Given the description of an element on the screen output the (x, y) to click on. 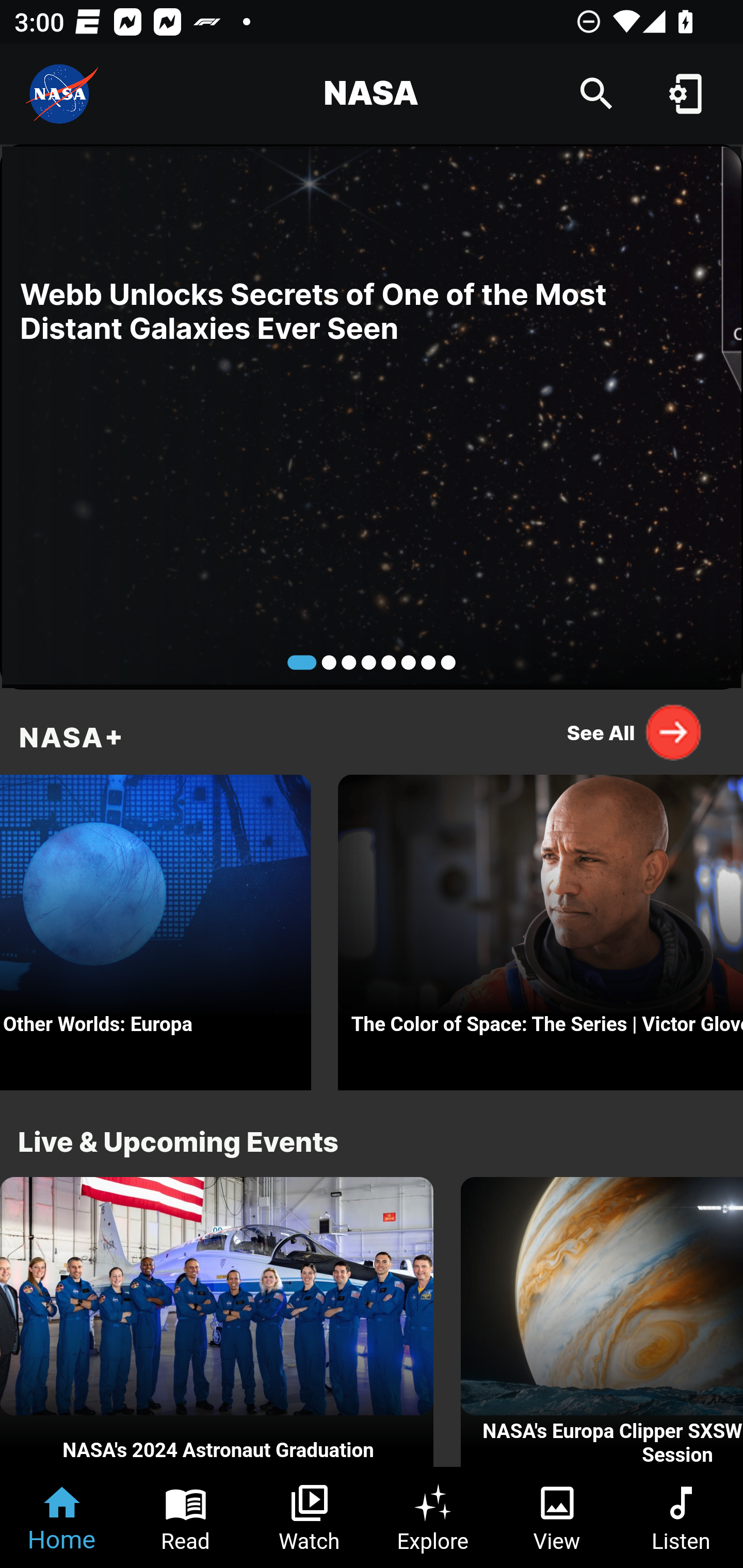
See All (634, 732)
Other Worlds: Europa (155, 927)
The Color of Space: The Series | Victor Glover (540, 927)
NASA's 2024 Astronaut Graduation (216, 1322)
NASA's Europa Clipper SXSW 2024 Opening Session (601, 1322)
Home
Tab 1 of 6 (62, 1517)
Read
Tab 2 of 6 (185, 1517)
Watch
Tab 3 of 6 (309, 1517)
Explore
Tab 4 of 6 (433, 1517)
View
Tab 5 of 6 (556, 1517)
Listen
Tab 6 of 6 (680, 1517)
